Given the description of an element on the screen output the (x, y) to click on. 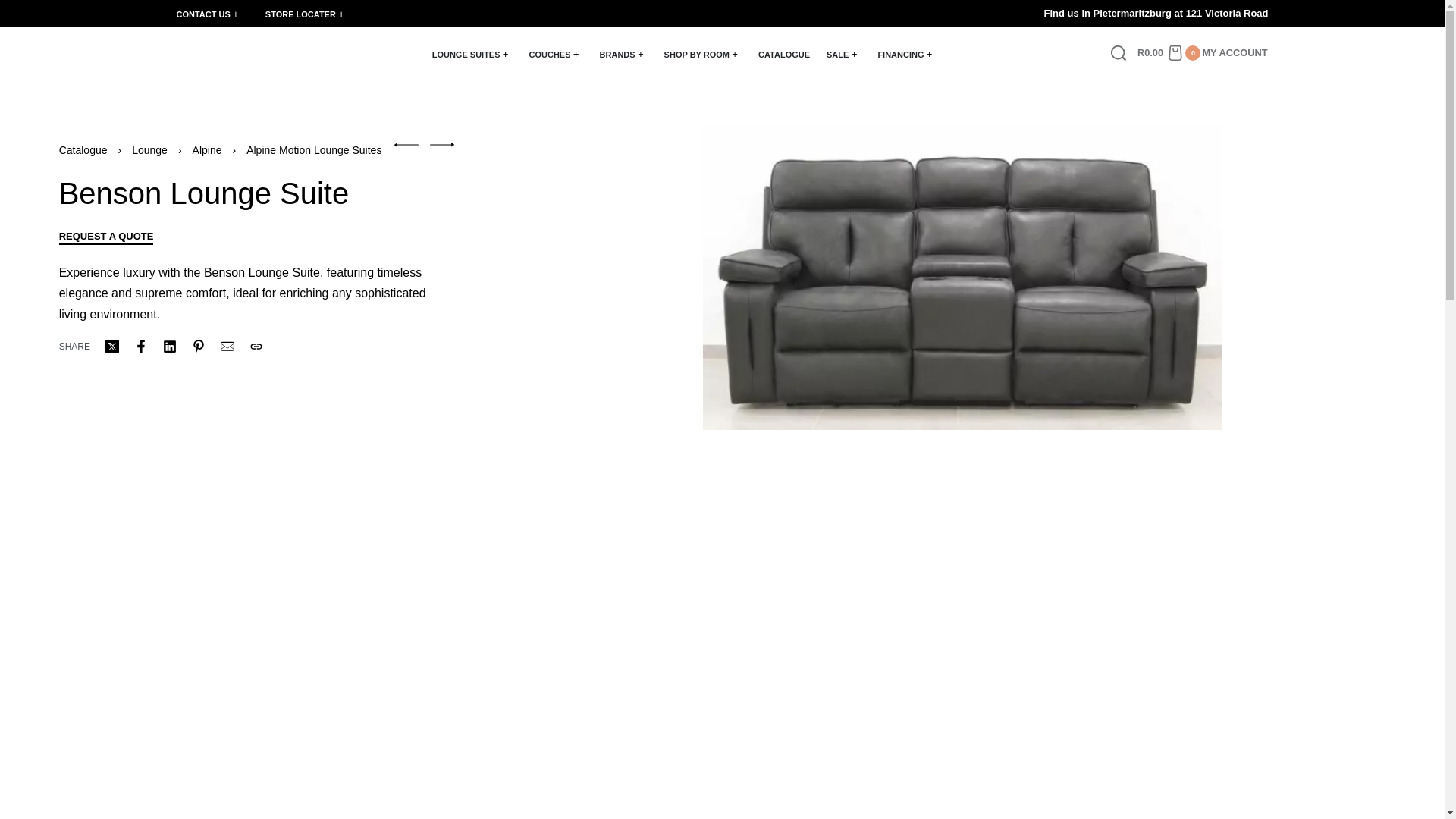
BRANDS (623, 54)
COUCHES (556, 54)
STORE LOCATER (305, 14)
CONTACT US (208, 14)
Avalon Lounge Suite (406, 144)
Bison Lounge Suite (440, 144)
LOUNGE SUITES (472, 54)
Find us in Pietermaritzburg at 121 Victoria Road (995, 13)
